Given the description of an element on the screen output the (x, y) to click on. 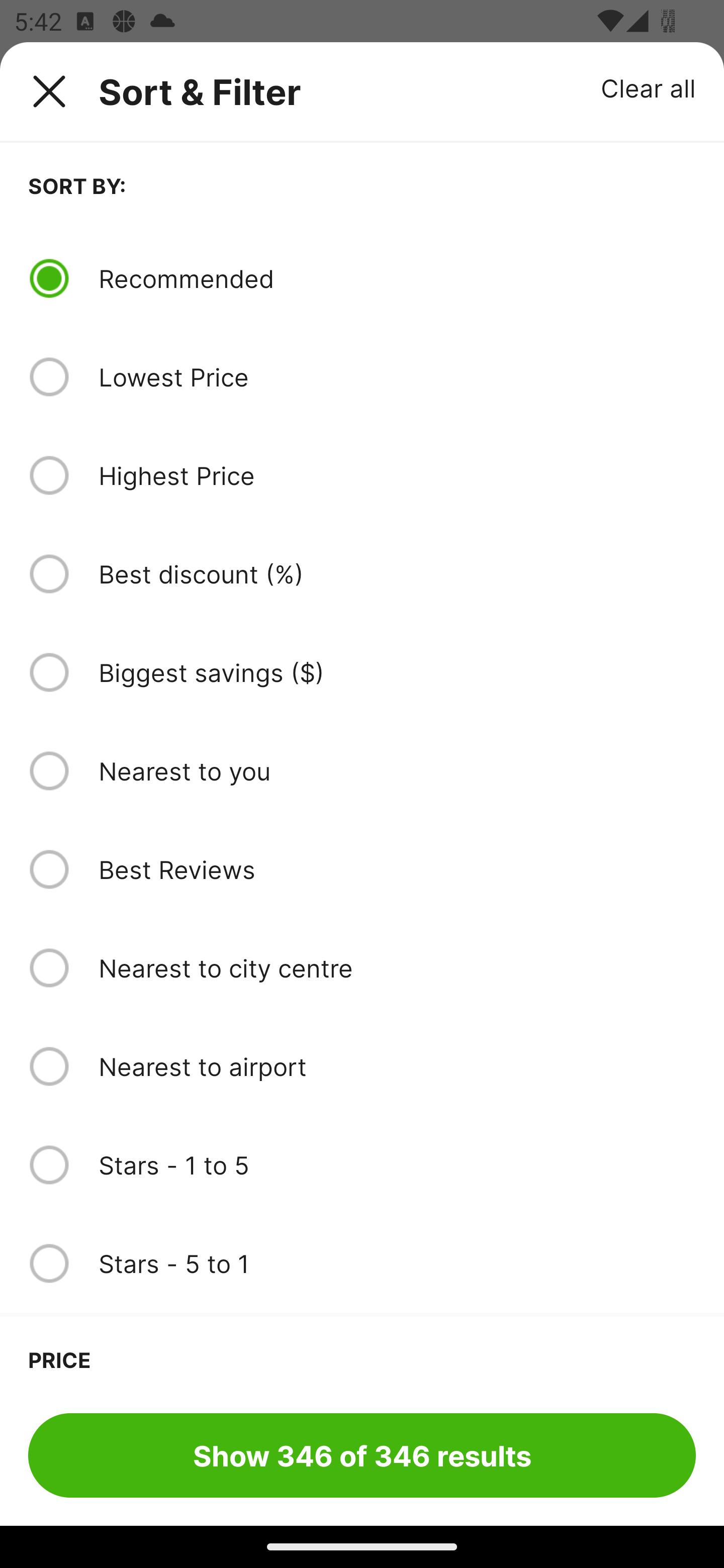
Clear all (648, 87)
Recommended  (396, 278)
Lowest Price (396, 377)
Highest Price (396, 474)
Best discount (%) (396, 573)
Biggest savings ($) (396, 672)
Nearest to you (396, 770)
Best Reviews (396, 869)
Nearest to city centre (396, 968)
Nearest to airport (396, 1065)
Stars - 1 to 5 (396, 1164)
Stars - 5 to 1 (396, 1263)
Show 346 of 346 results (361, 1454)
